Given the description of an element on the screen output the (x, y) to click on. 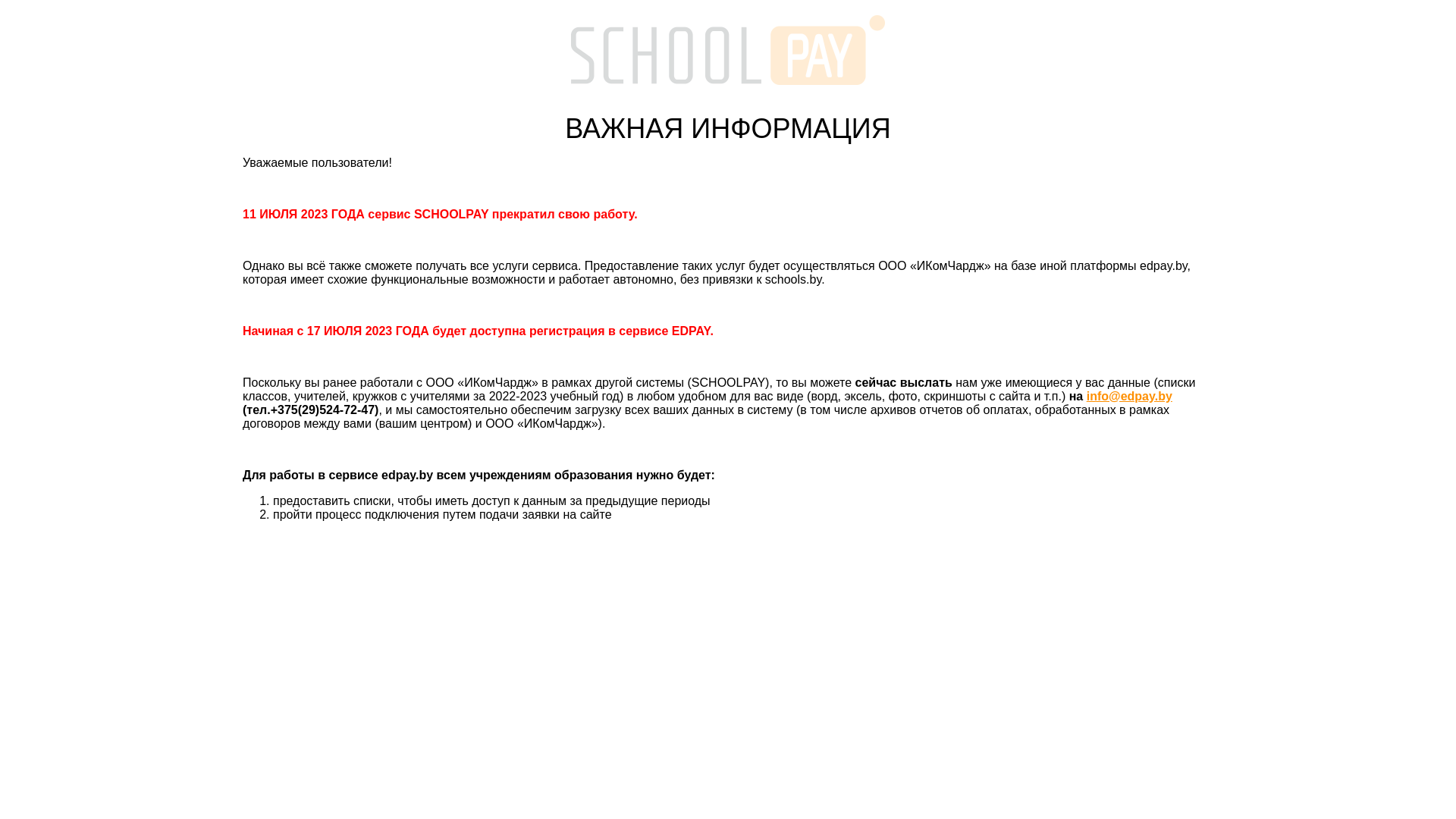
info@edpay.by Element type: text (1129, 395)
